Given the description of an element on the screen output the (x, y) to click on. 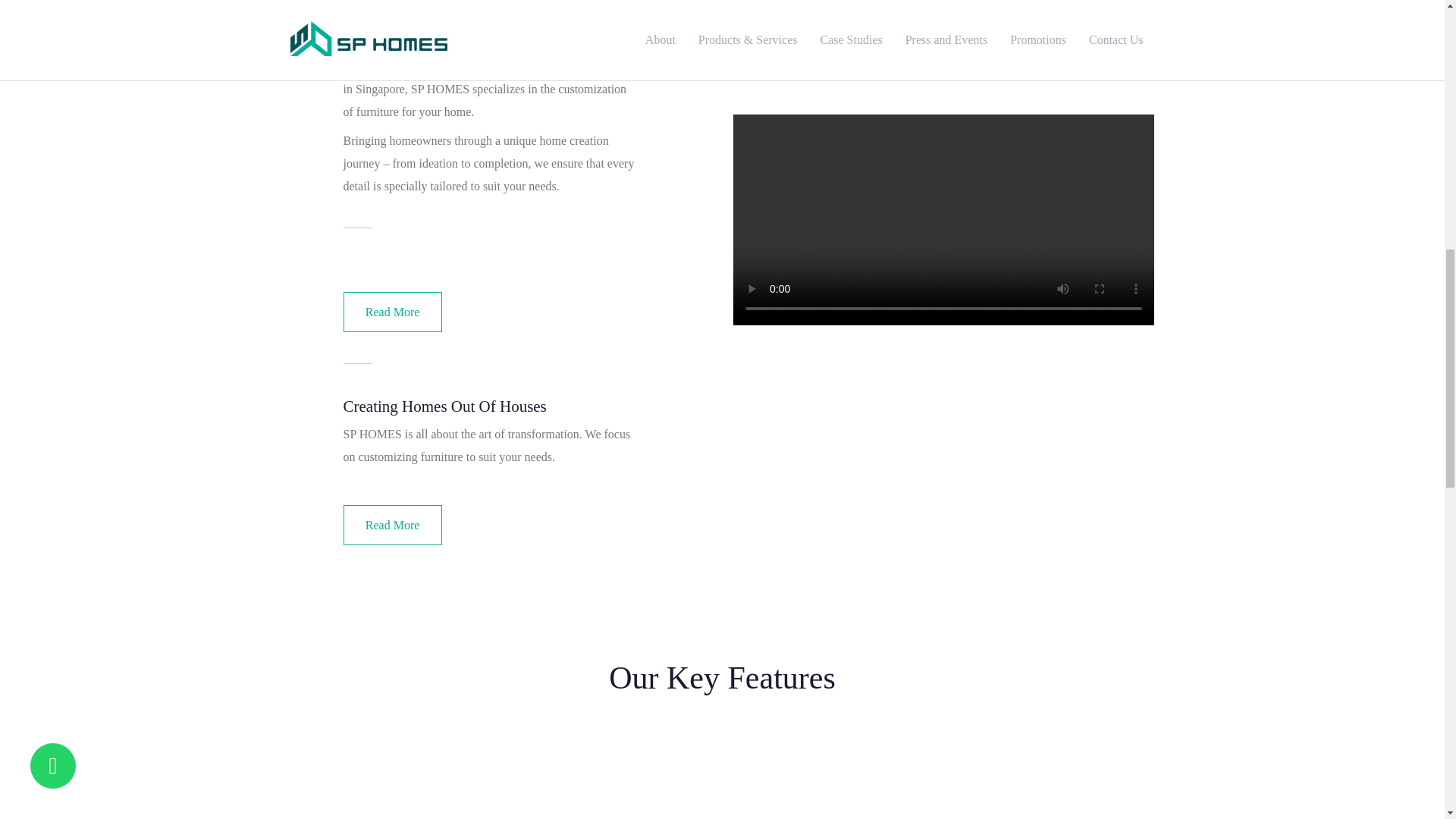
Read More (391, 311)
Read More (391, 525)
About Us (391, 525)
About Us (391, 311)
